Given the description of an element on the screen output the (x, y) to click on. 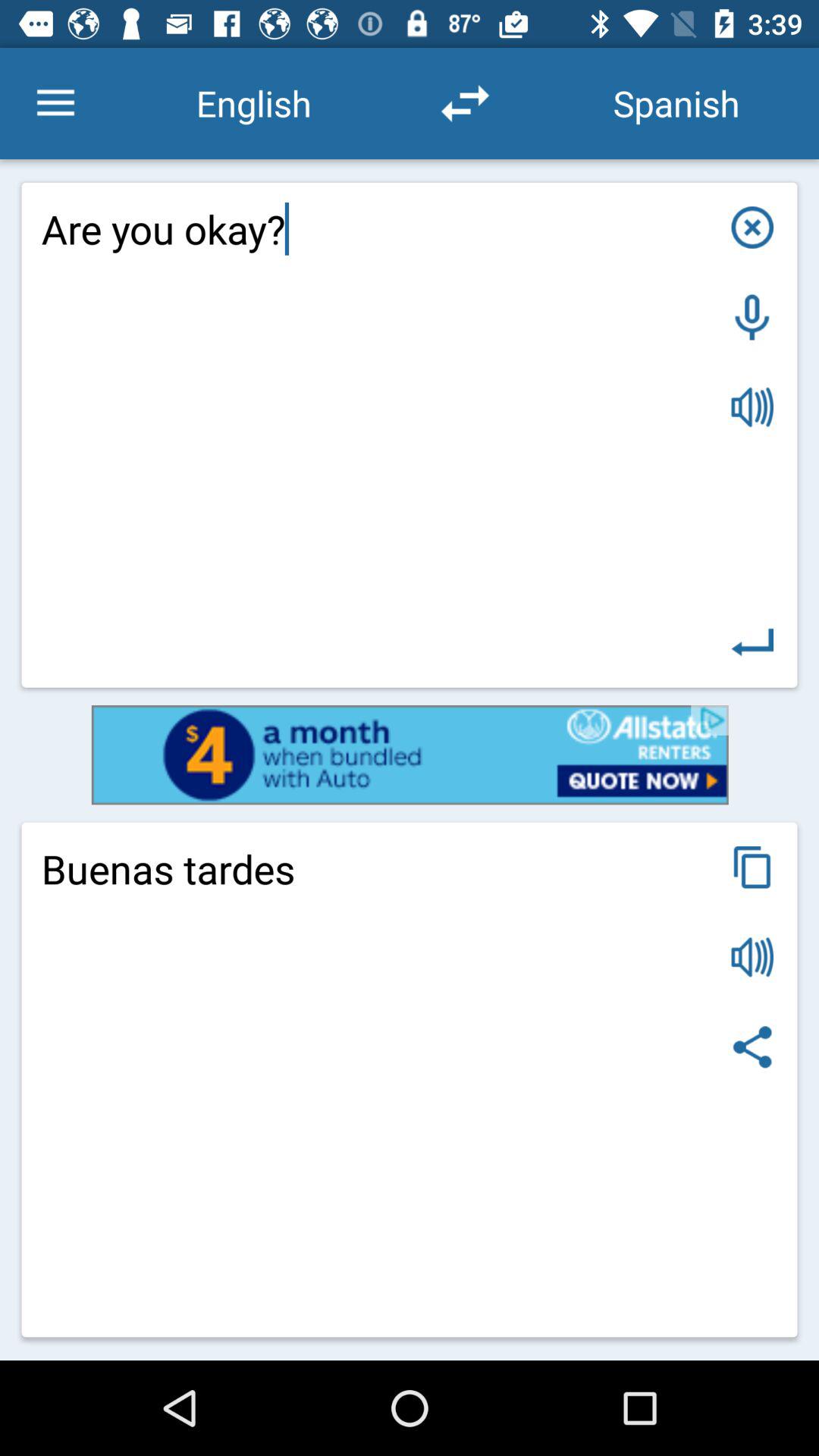
go to share (752, 1047)
